Given the description of an element on the screen output the (x, y) to click on. 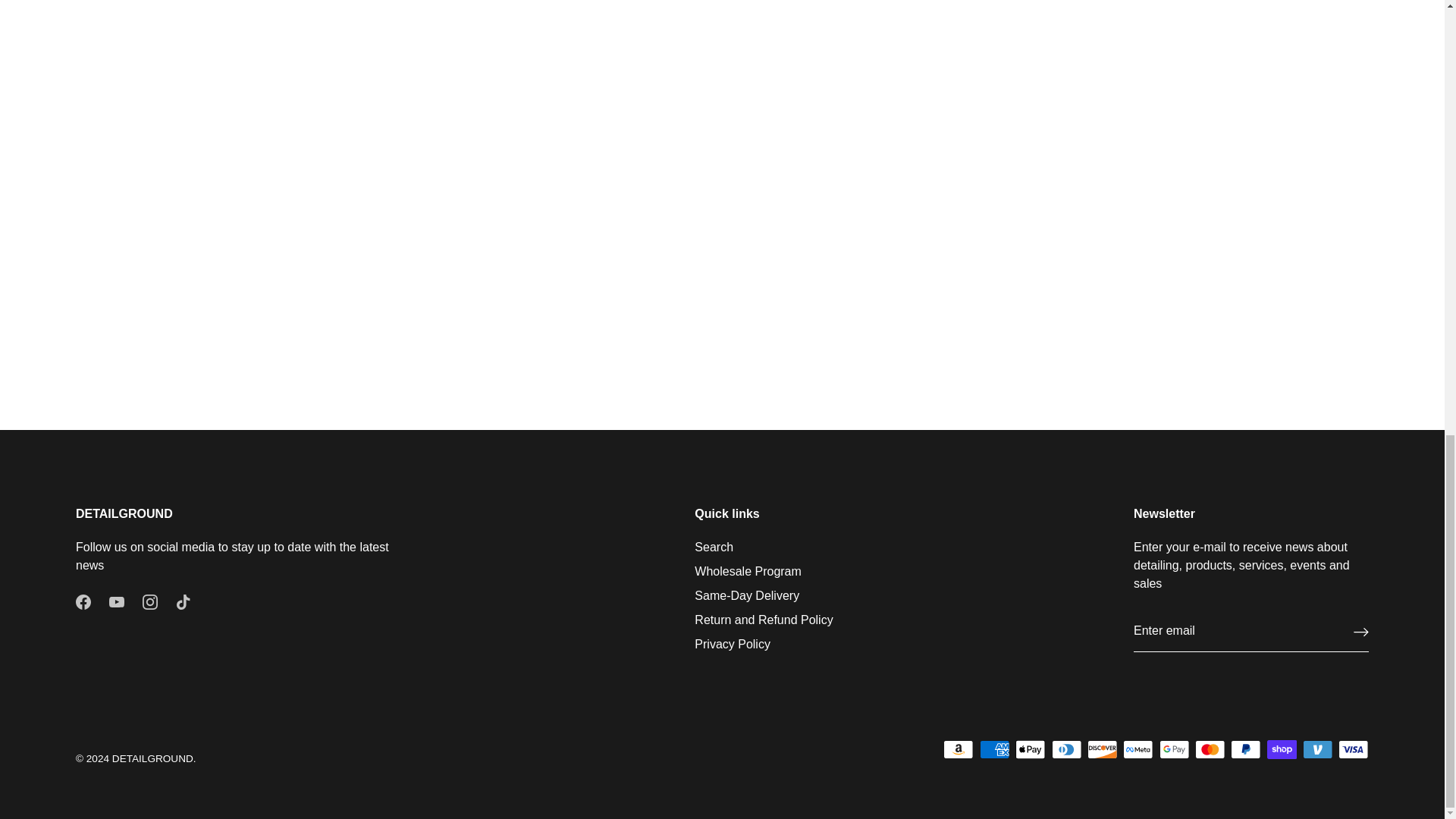
Visa (1353, 749)
Venmo (1317, 749)
Google Pay (1173, 749)
Right arrow long (1361, 631)
Shop Pay (1281, 749)
Apple Pay (1029, 749)
Discover (1101, 749)
Amazon (958, 749)
American Express (994, 749)
PayPal (1245, 749)
Diners Club (1066, 749)
Mastercard (1209, 749)
Instagram (149, 601)
Youtube (116, 601)
Meta Pay (1137, 749)
